Given the description of an element on the screen output the (x, y) to click on. 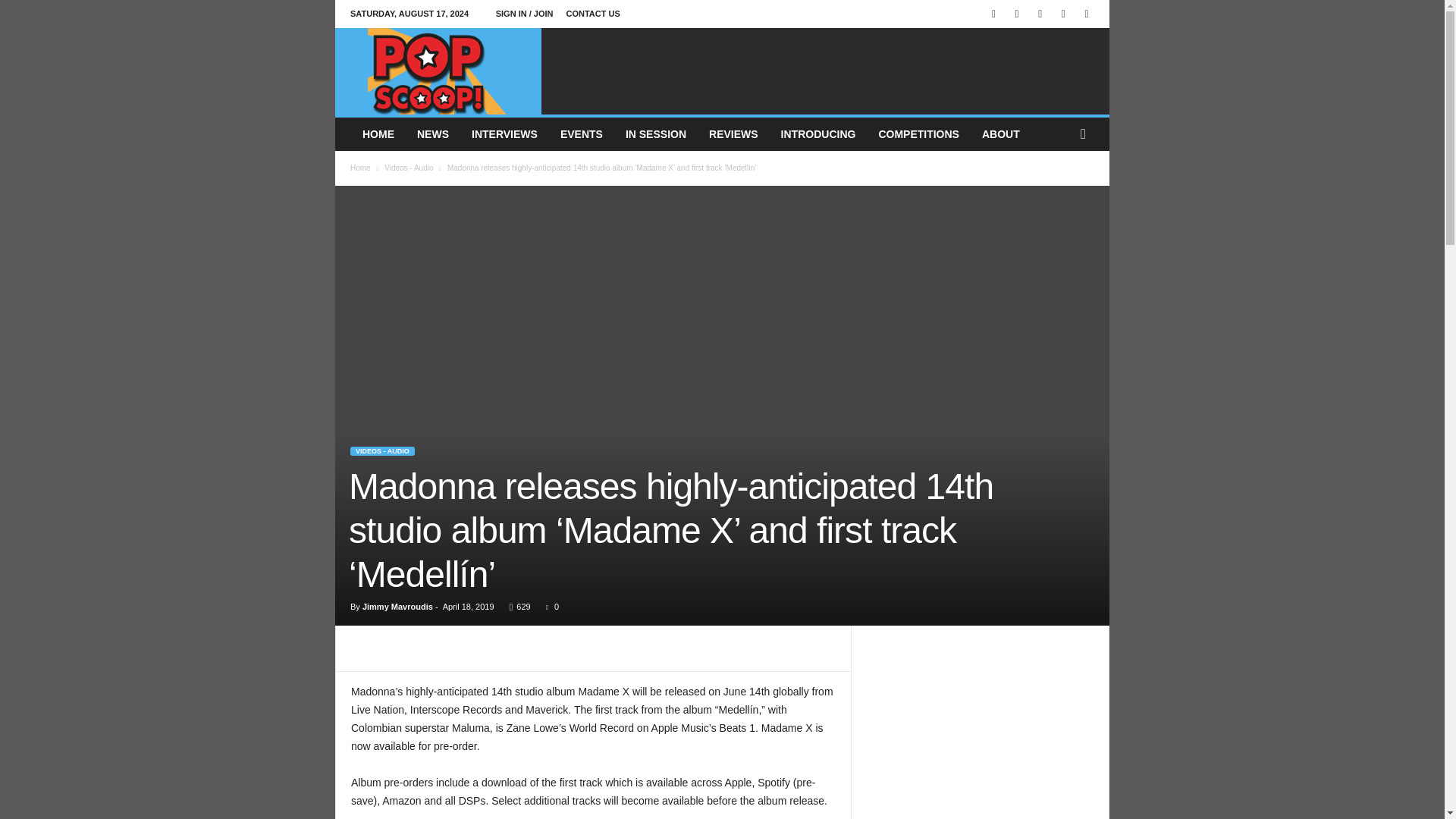
INTERVIEWS (504, 133)
NEWS (433, 133)
Pop Scoop (437, 70)
HOME (378, 133)
CONTACT US (593, 13)
View all posts in Videos - Audio (408, 167)
